Given the description of an element on the screen output the (x, y) to click on. 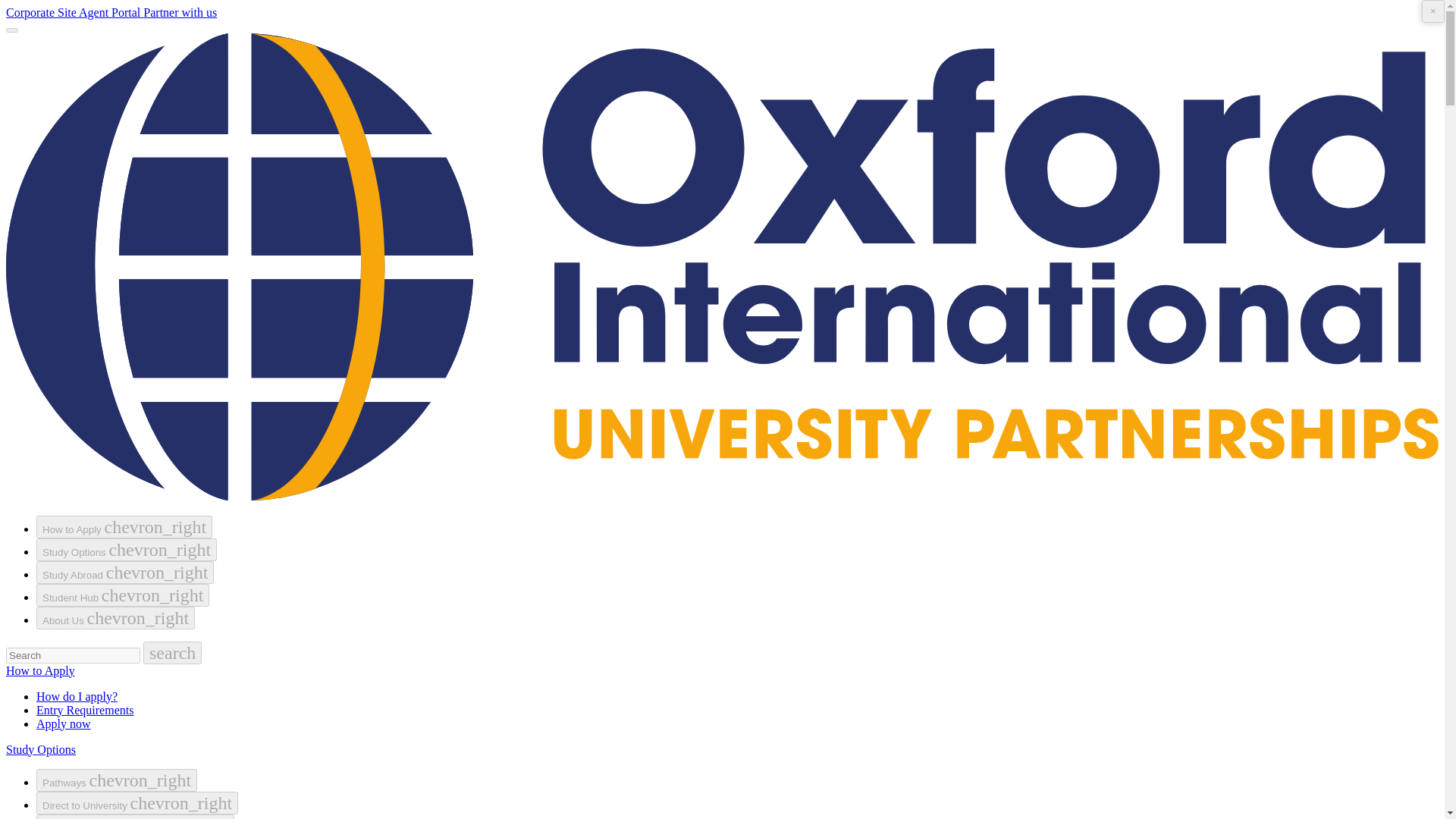
How to Apply (40, 670)
Entry Requirements (84, 709)
Partner with us (179, 11)
How do I apply? (76, 696)
Study Options (40, 748)
Agent Portal (110, 11)
search (172, 652)
Corporate Site (41, 11)
Apply now (63, 723)
